Given the description of an element on the screen output the (x, y) to click on. 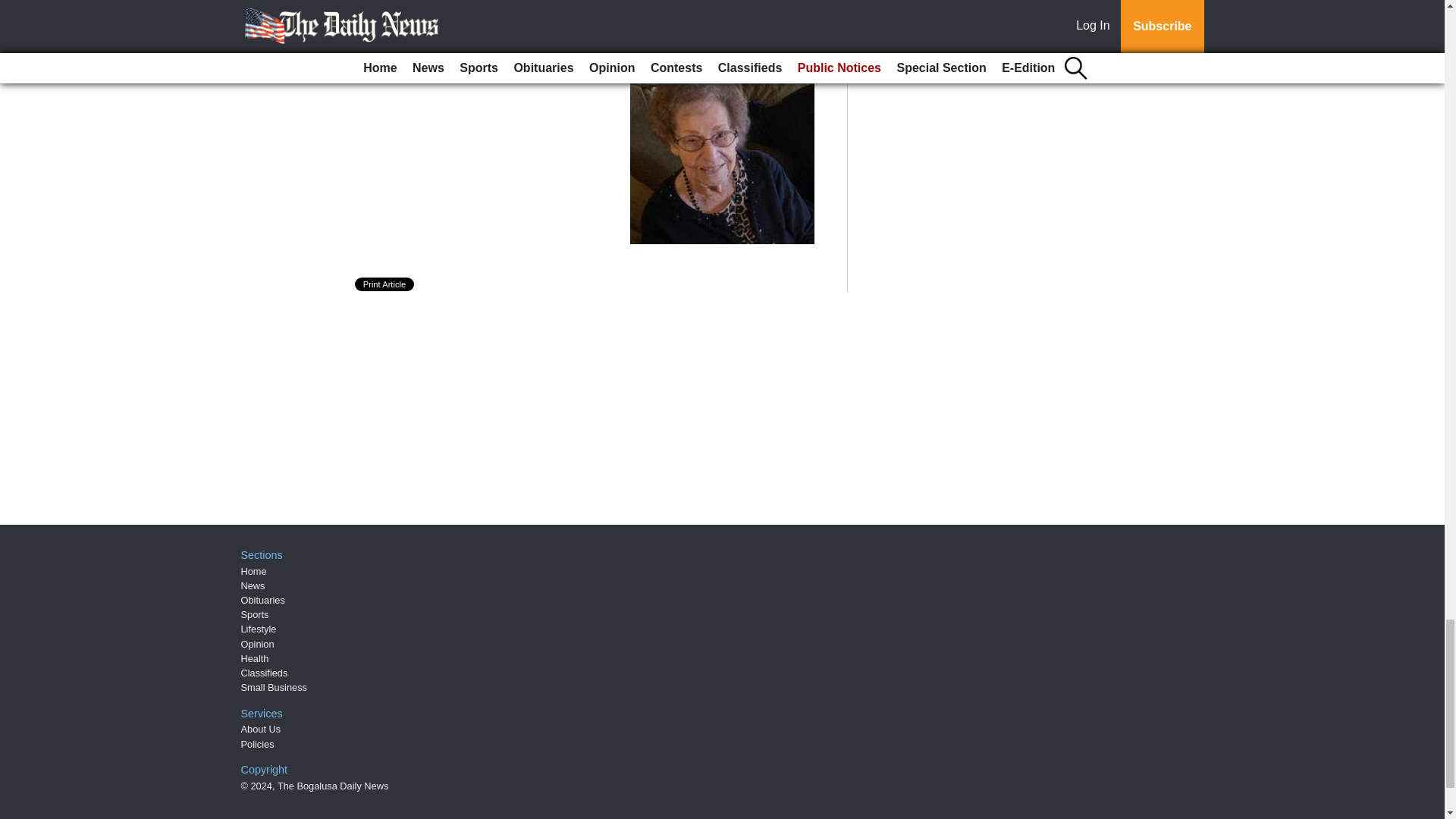
News (252, 585)
Lifestyle (258, 628)
Opinion (258, 644)
Home (253, 571)
Sports (255, 614)
Vivian Marie Barlow Ready (476, 68)
Vivian Marie Barlow Ready (476, 68)
Obituaries (263, 600)
Print Article (384, 284)
